Given the description of an element on the screen output the (x, y) to click on. 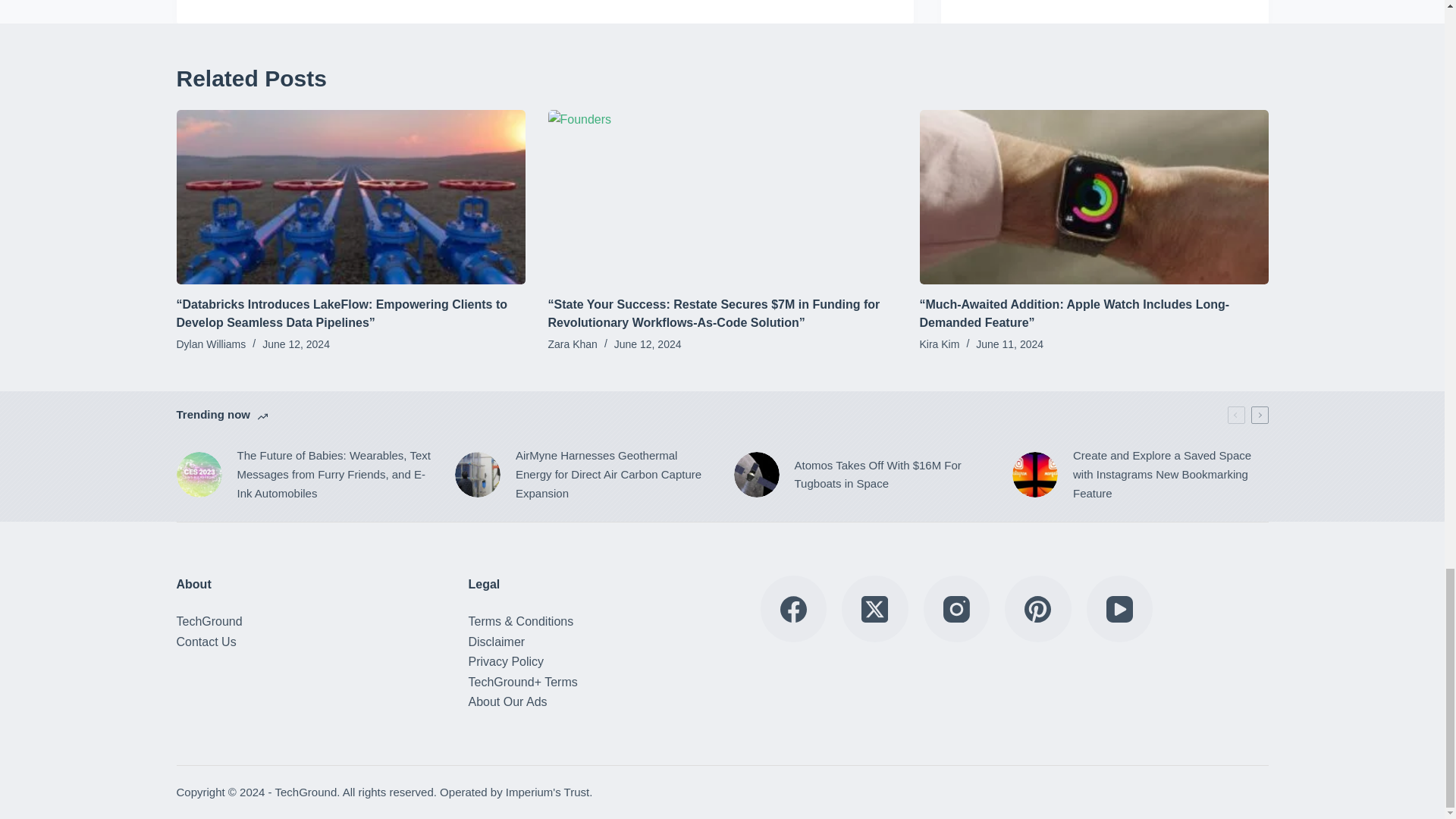
Posts by Zara Khan (571, 344)
Posts by Dylan Williams (211, 344)
Posts by Kira Kim (938, 344)
